Given the description of an element on the screen output the (x, y) to click on. 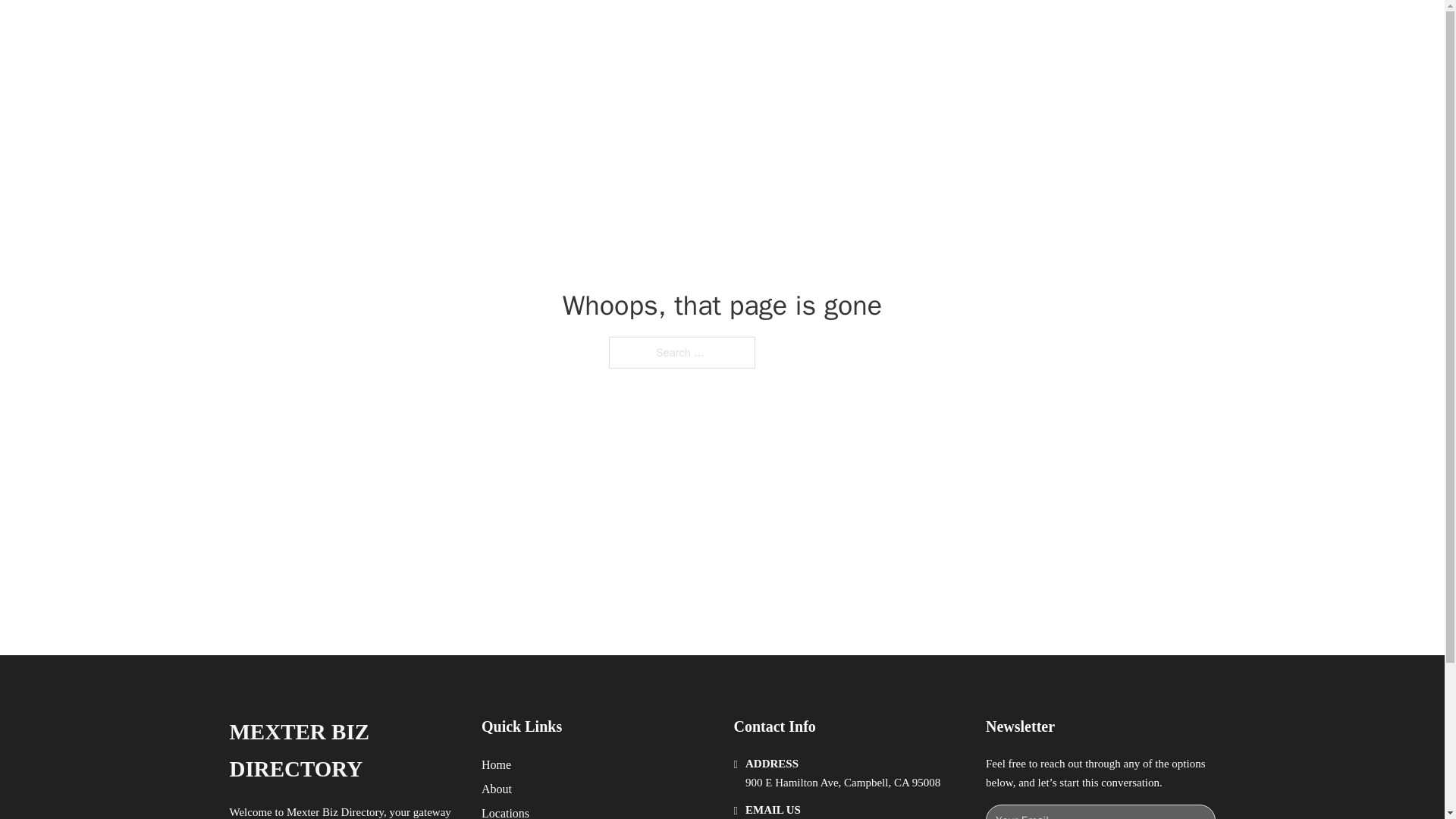
MEXTER BIZ DIRECTORY (429, 28)
MEXTER BIZ DIRECTORY (343, 750)
Locations (505, 811)
HOME (919, 29)
About (496, 788)
Home (496, 764)
LOCATIONS (990, 29)
